Given the description of an element on the screen output the (x, y) to click on. 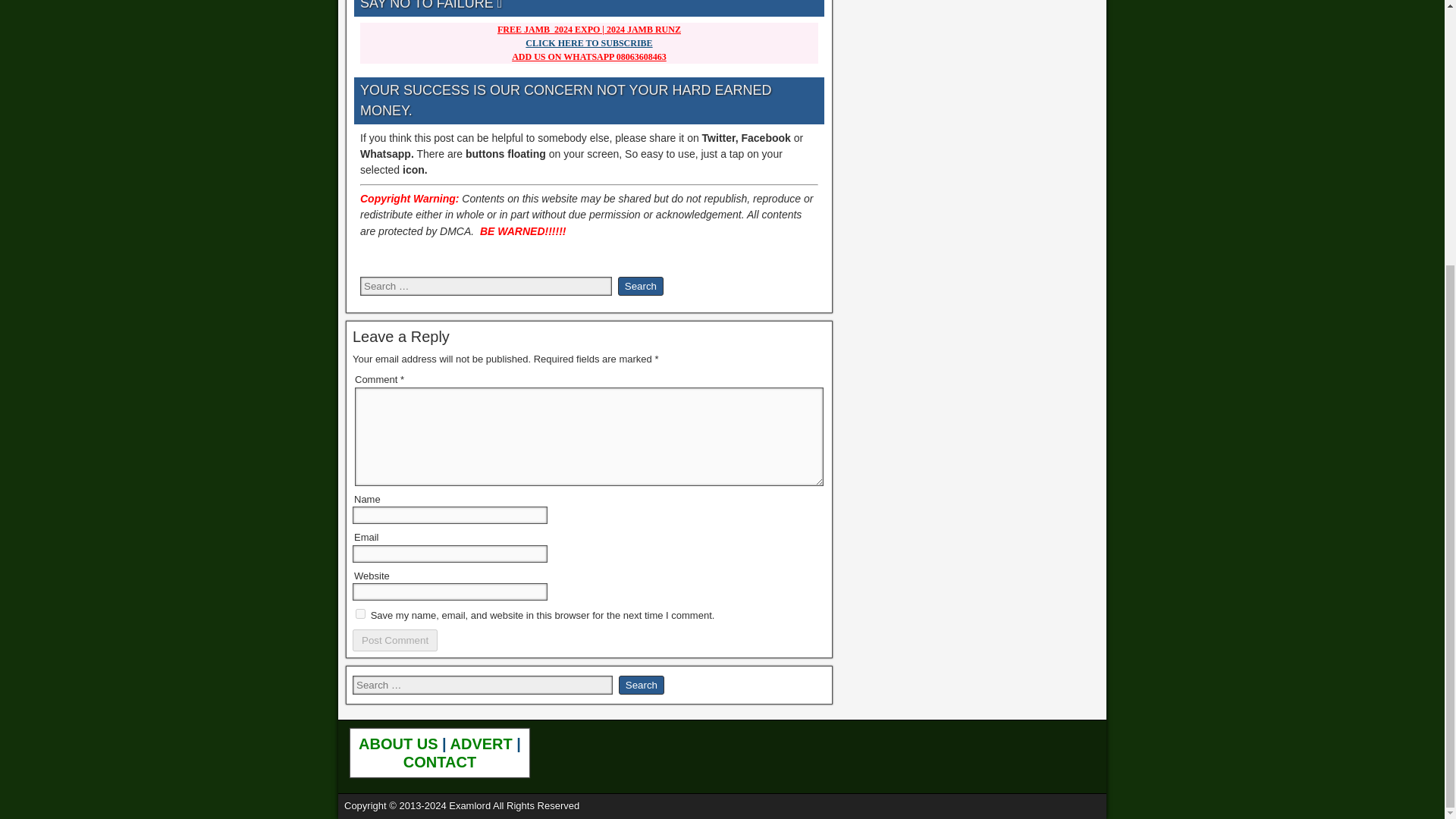
Search (640, 684)
CONTACT (439, 761)
Search (640, 285)
Search (640, 684)
Search (640, 285)
yes (360, 614)
Search (640, 684)
Search (640, 285)
ADVERT (482, 743)
Post Comment (395, 640)
Post Comment (395, 640)
CLICK HERE TO SUBSCRIBE (588, 42)
